Given the description of an element on the screen output the (x, y) to click on. 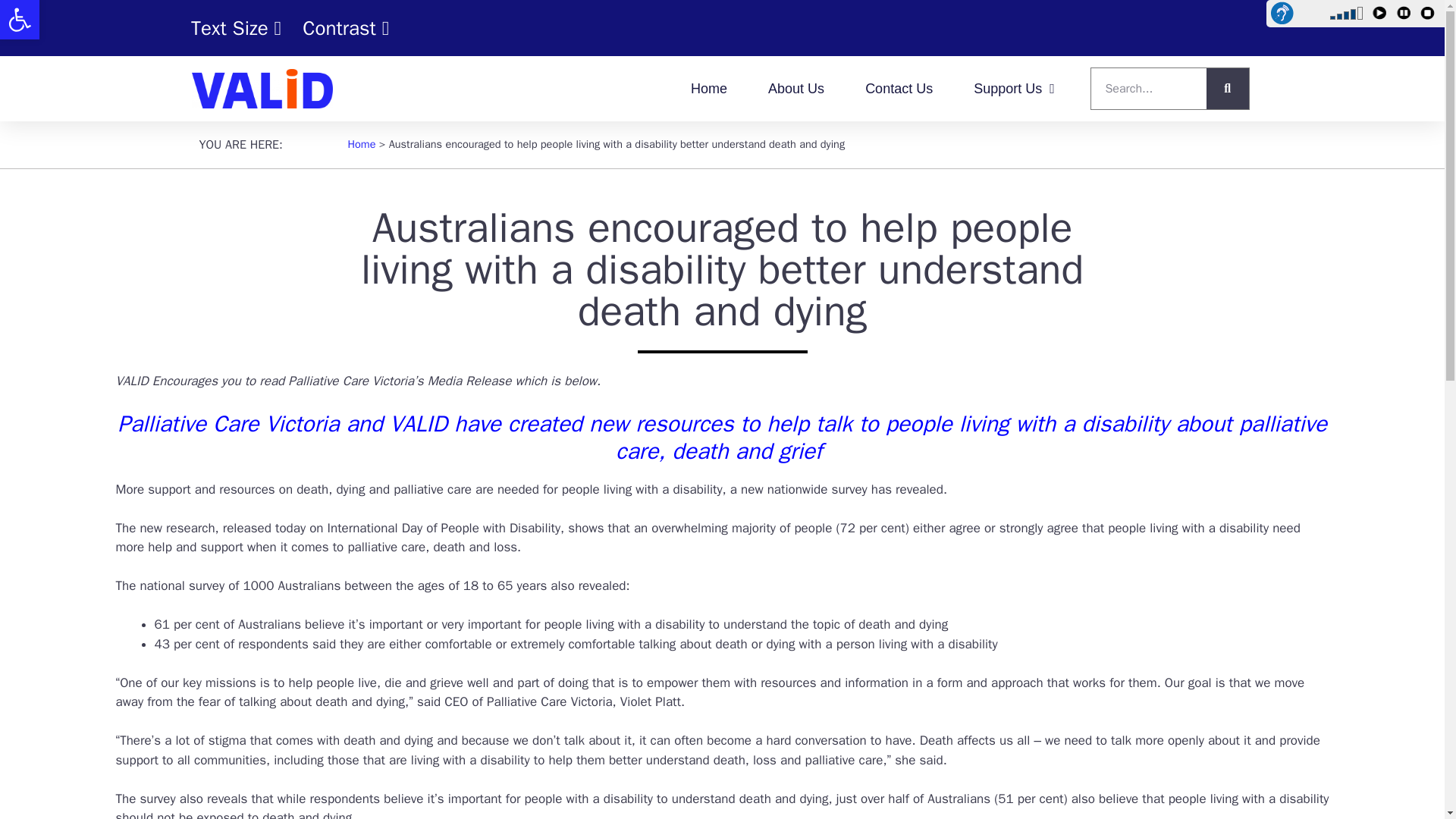
Pause (1405, 15)
Home (19, 19)
Accessibility Tools (708, 88)
- Stop - (19, 19)
Play (1430, 15)
- Pause - (1381, 15)
 - Screen Reader -  (1405, 15)
Contrast (1296, 13)
Contact Us (345, 27)
About Us (898, 88)
Text Size (796, 88)
Accessibility Tools (238, 27)
Stop (19, 19)
- Play - (1430, 15)
